Given the description of an element on the screen output the (x, y) to click on. 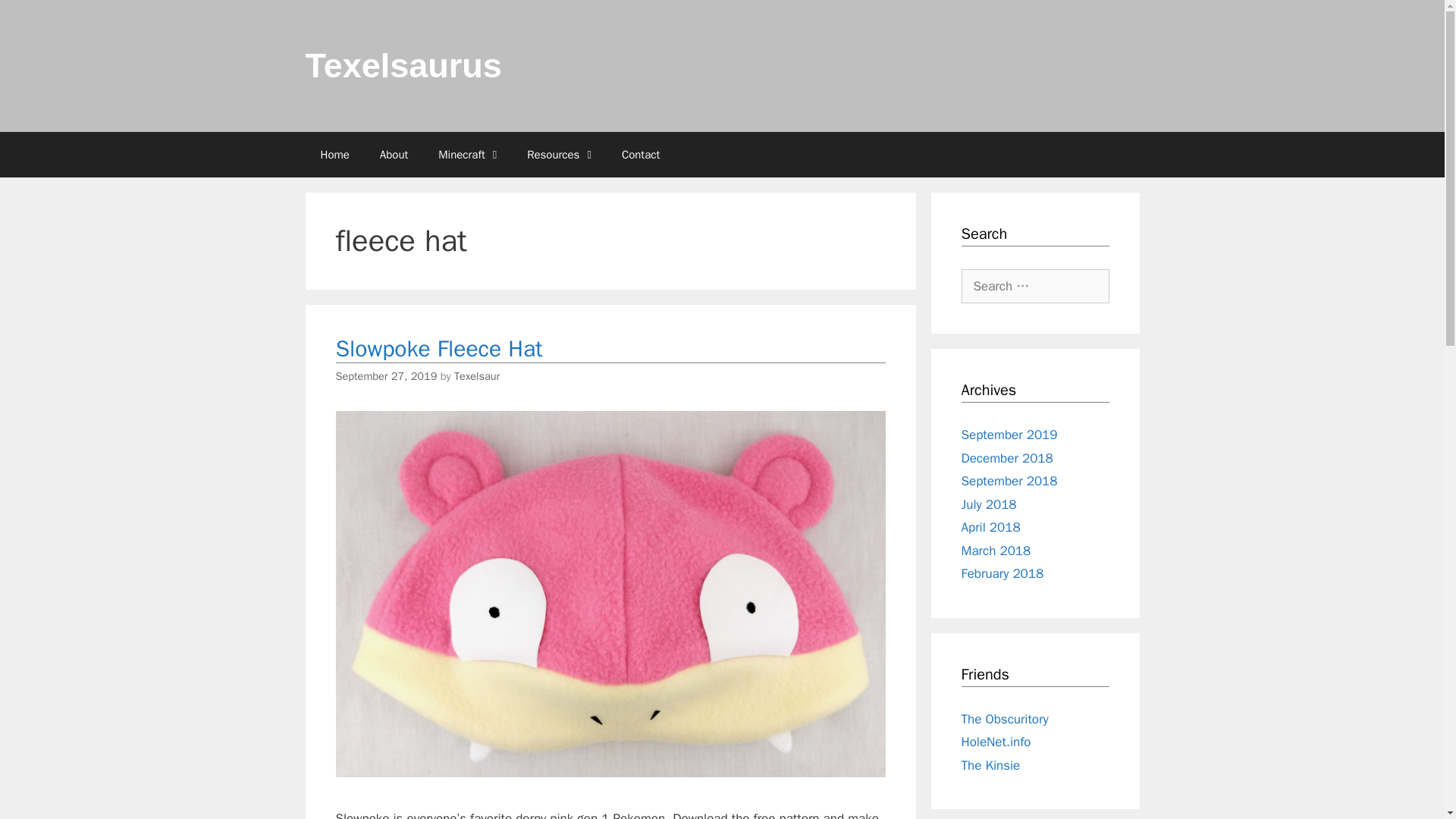
4:57 am (385, 376)
Search for: (1034, 286)
Search (35, 17)
Home (334, 154)
Texelsaur (476, 376)
Texelsaurus (402, 65)
About (394, 154)
December 2018 (1006, 458)
Resources (559, 154)
September 2018 (1009, 480)
